Given the description of an element on the screen output the (x, y) to click on. 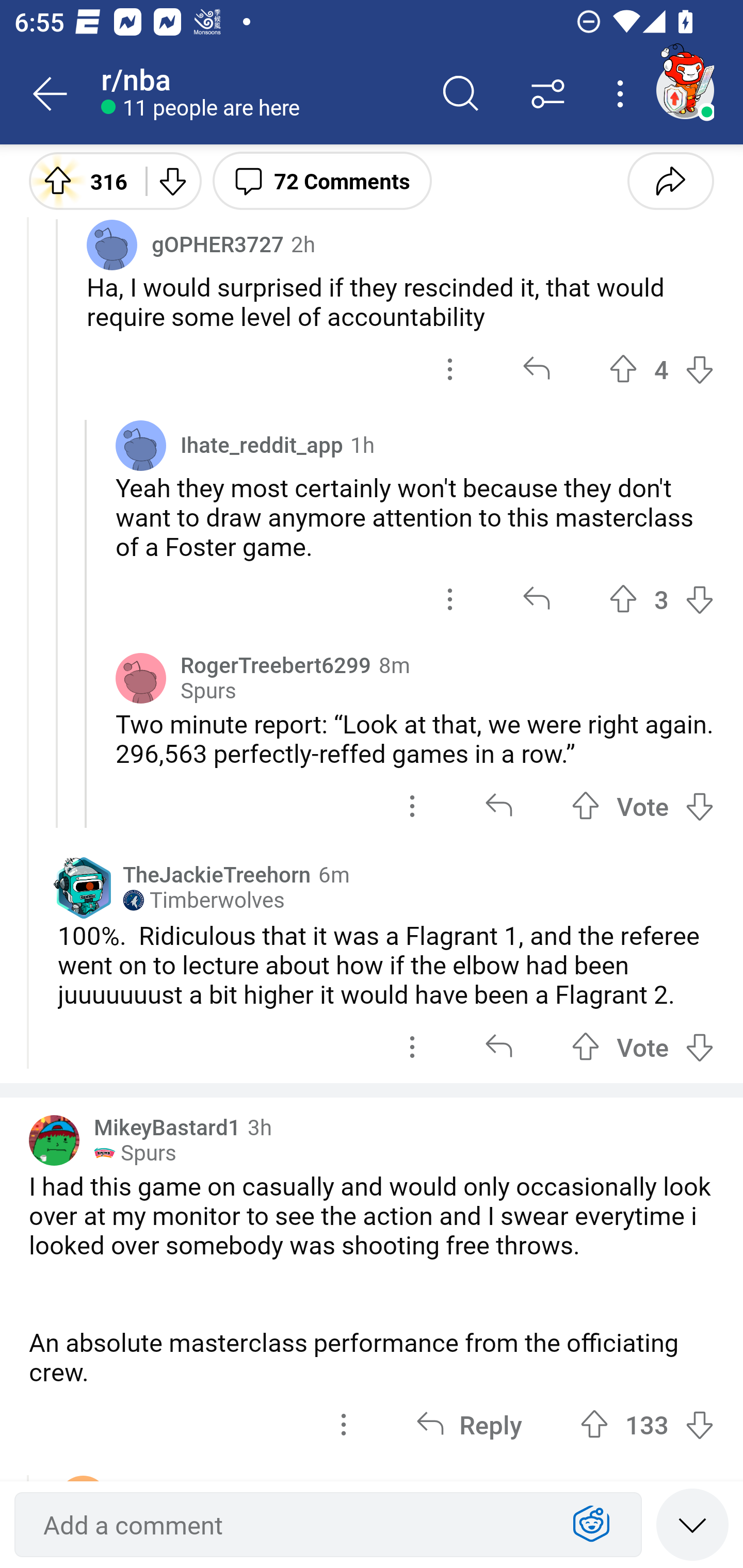
Back (50, 93)
TestAppium002 account (685, 90)
Search comments (460, 93)
Sort comments (547, 93)
More options (623, 93)
r/nba 11 people are here (259, 93)
Upvote 316 (79, 180)
Downvote (171, 180)
72 Comments (321, 180)
Share (670, 180)
Avatar (111, 244)
options (449, 369)
Upvote 4 4 votes Downvote (661, 369)
Avatar (140, 445)
options (449, 598)
Upvote 3 3 votes Downvote (661, 598)
Avatar (140, 678)
Spurs (208, 691)
options (412, 805)
Upvote Vote Downvote (642, 805)
￼ Timberwolves (203, 899)
options (412, 1047)
Upvote Vote Downvote (642, 1047)
Avatar (53, 1139)
￼ Spurs (134, 1152)
options (343, 1425)
Reply (469, 1425)
Upvote 133 133 votes Downvote (647, 1425)
Speed read (692, 1524)
Add a comment (291, 1524)
Show Expressions (590, 1524)
